Given the description of an element on the screen output the (x, y) to click on. 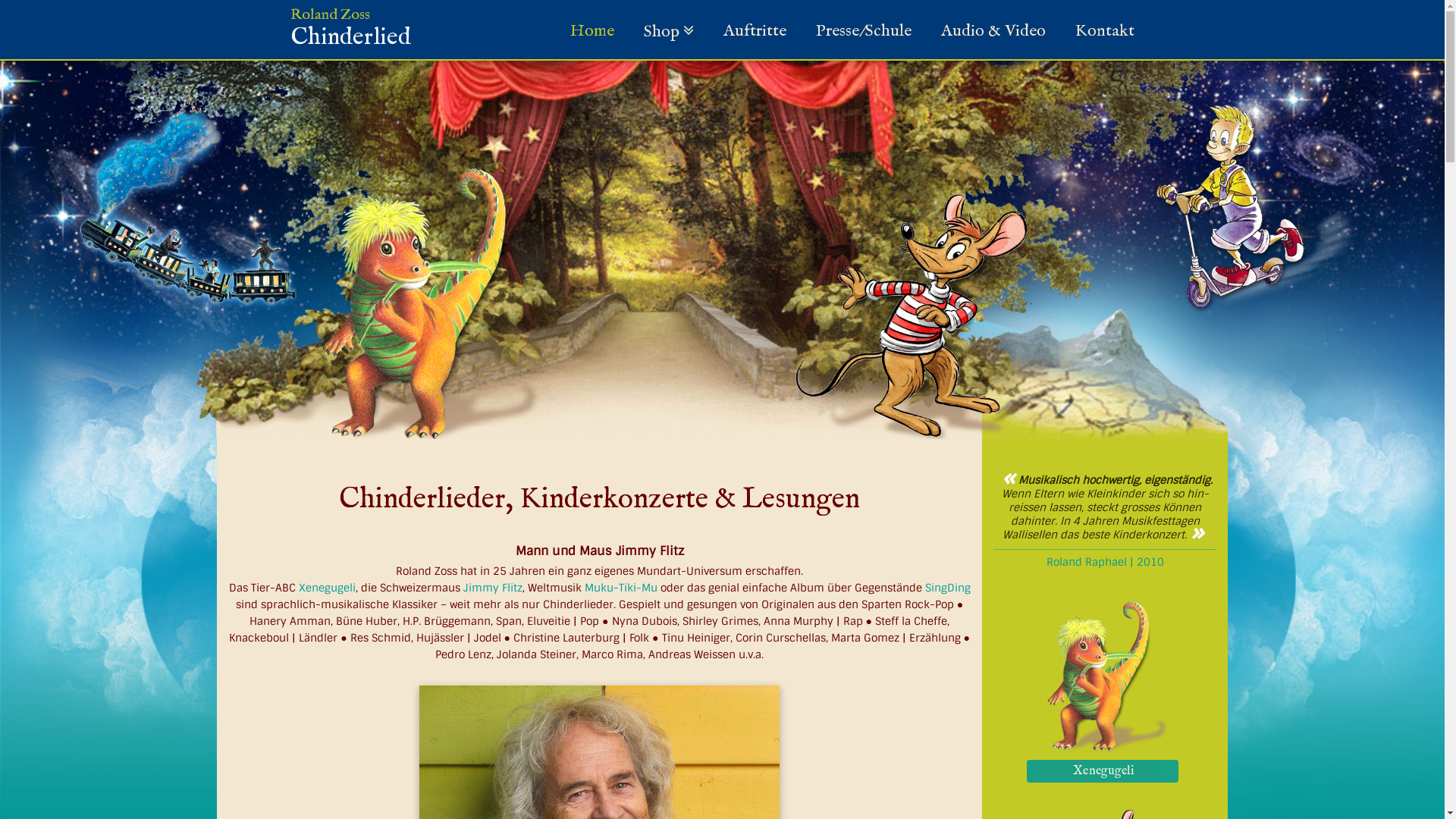
Audio & Video Element type: text (992, 30)
SingDing Element type: text (947, 587)
Xenegugeli Element type: text (1102, 770)
Website Jimmy Flitz Element type: hover (917, 316)
Auftritte Element type: text (754, 30)
Roland Zoss
Chinderlied Element type: text (349, 33)
Shop Element type: text (667, 30)
Xenegugeli Element type: text (326, 587)
Xenegugeli Element type: text (1104, 770)
Schlummerland Info Element type: hover (187, 206)
Muku-Tiki-Mu Element type: text (620, 587)
Home Element type: text (592, 30)
Website Xenegugeli Element type: hover (425, 303)
Presse/Schule Element type: text (863, 30)
Jimmy Flitz Element type: text (492, 587)
Kontakt Element type: text (1104, 30)
